Given the description of an element on the screen output the (x, y) to click on. 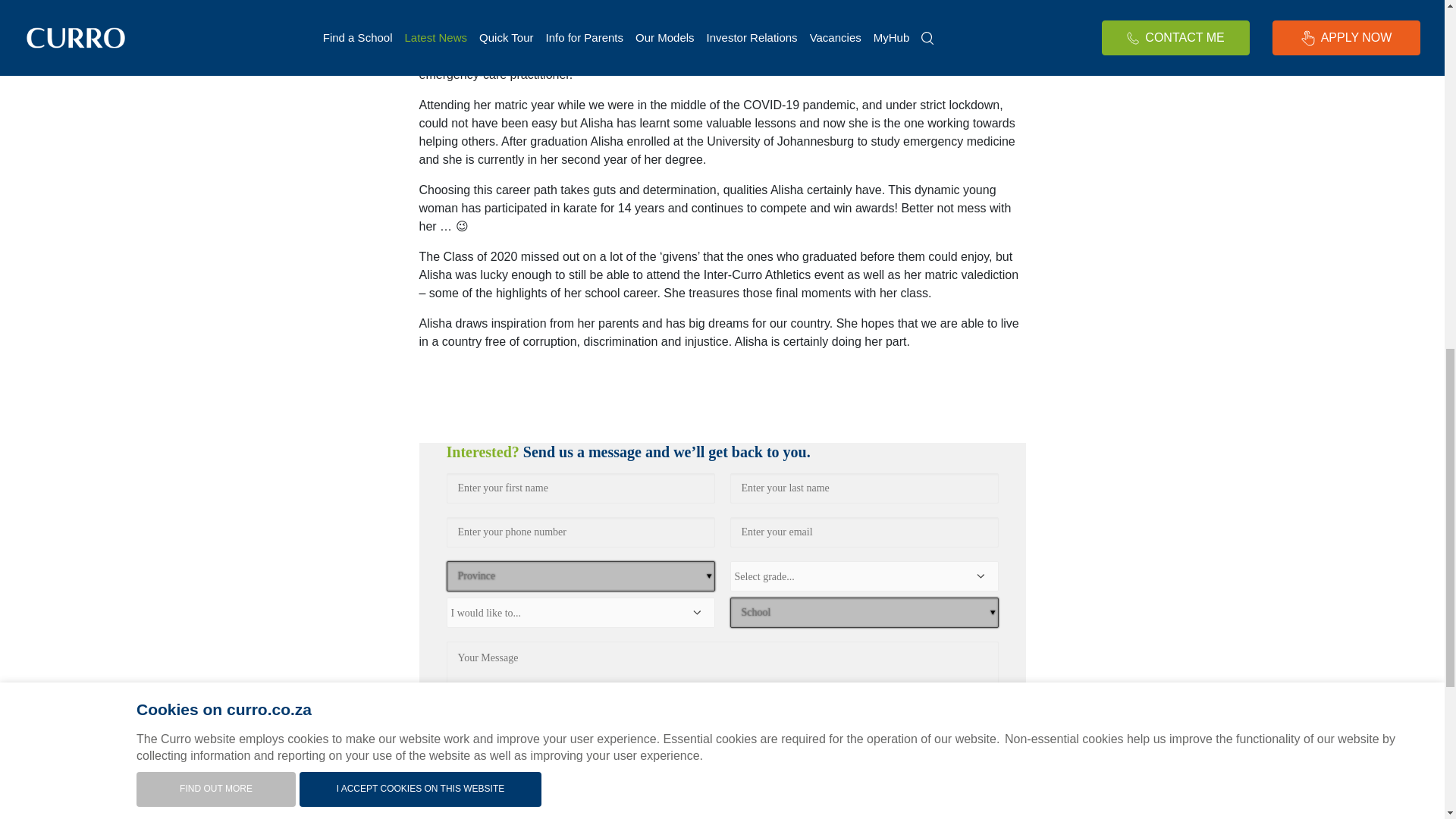
School (863, 611)
Select grade... (863, 576)
SEND (579, 765)
Your Message (721, 686)
I would like to... (579, 612)
Province (579, 574)
